Given the description of an element on the screen output the (x, y) to click on. 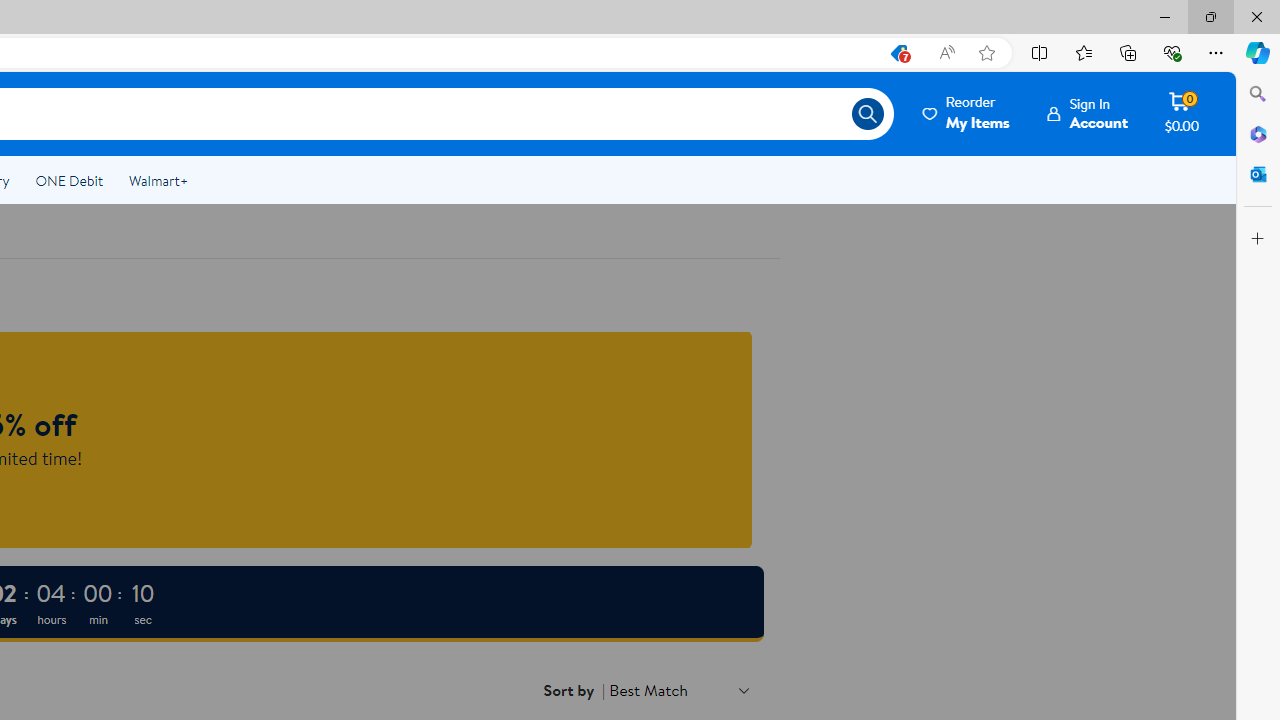
ReorderMy Items (967, 113)
Sort by Best Match (680, 690)
Sign InAccount (1088, 113)
Walmart+ (158, 180)
Walmart+ (158, 180)
This site has coupons! Shopping in Microsoft Edge, 7 (898, 53)
